Given the description of an element on the screen output the (x, y) to click on. 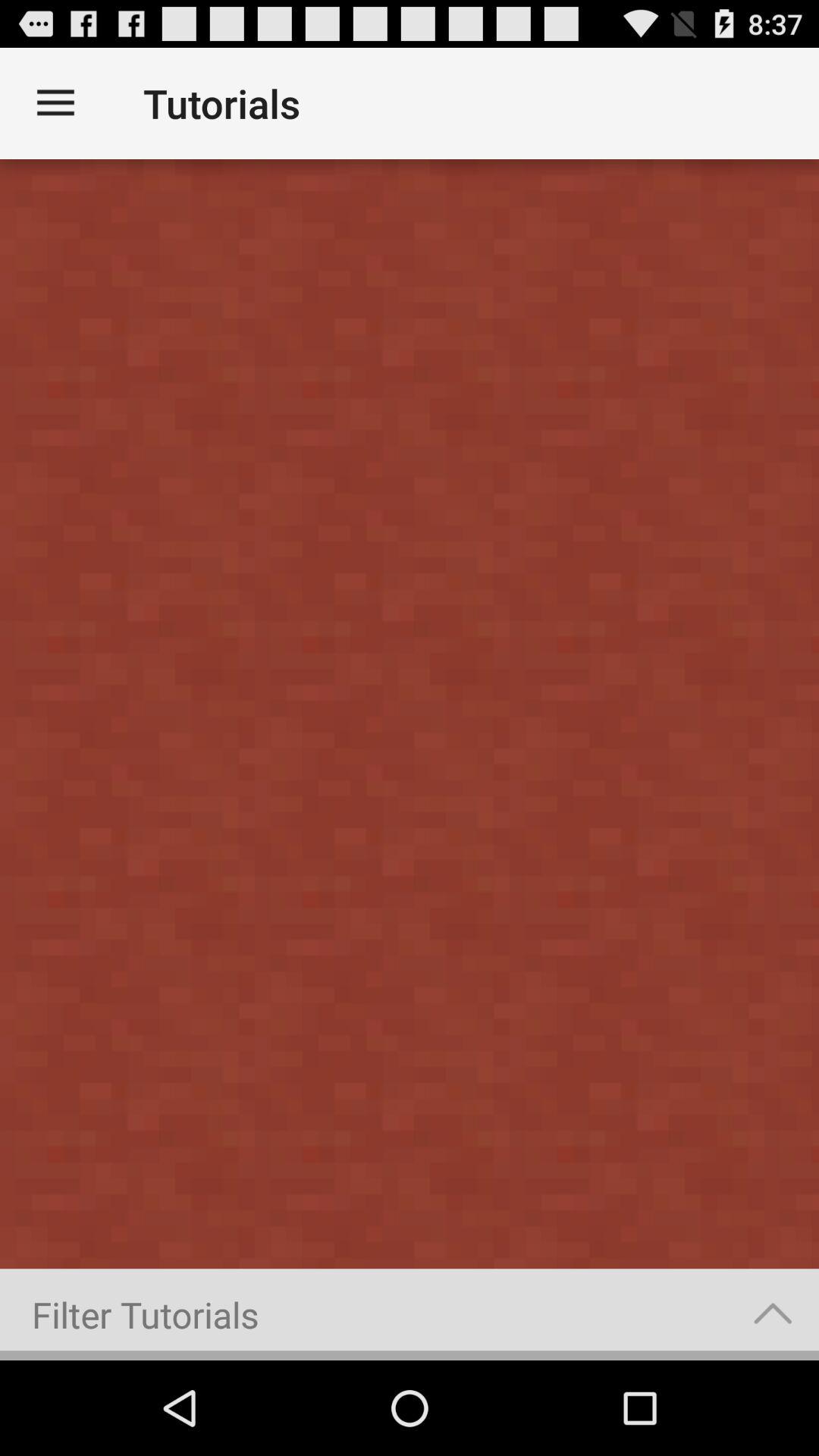
select the item next to tutorials app (55, 103)
